Given the description of an element on the screen output the (x, y) to click on. 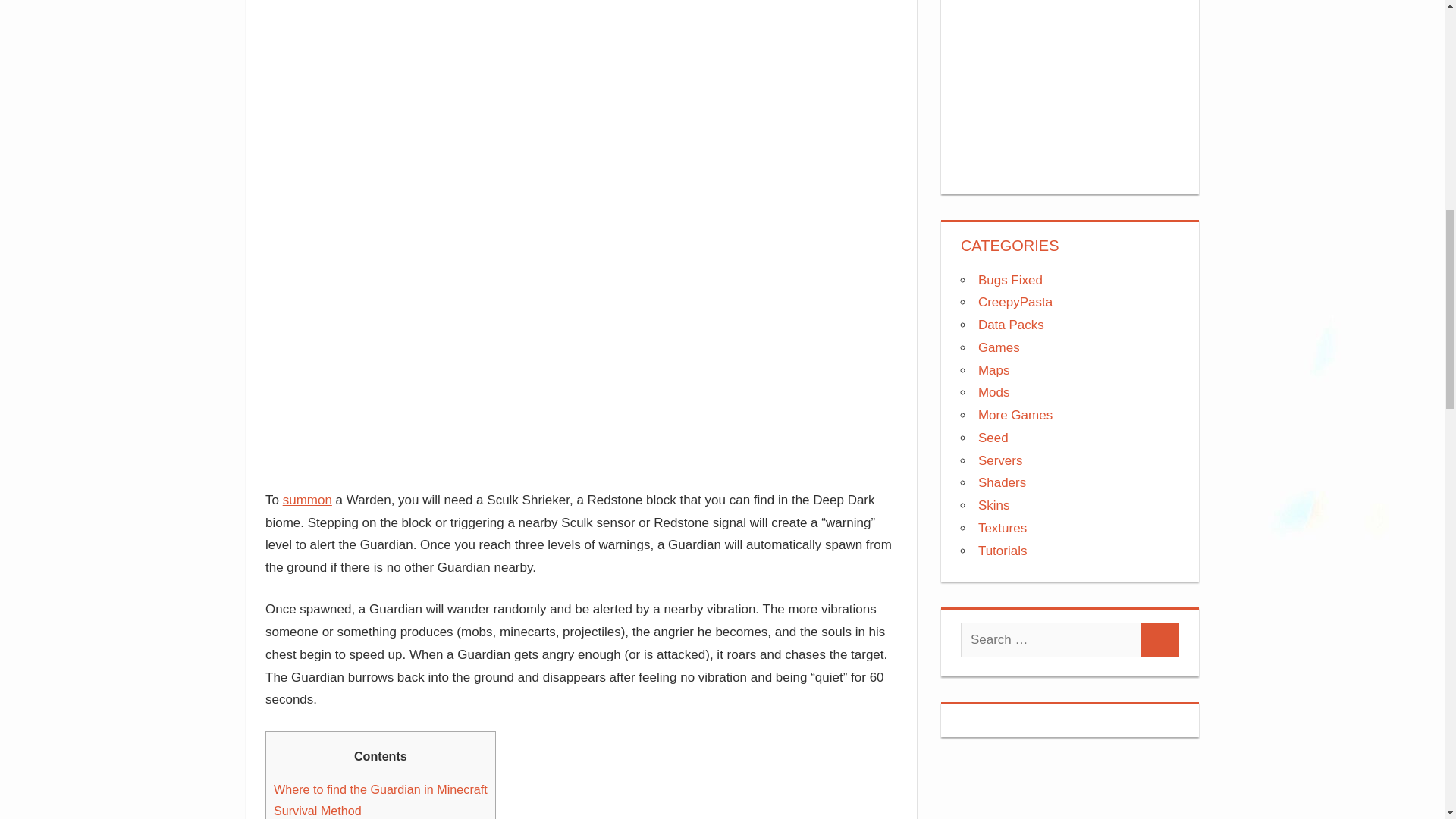
Advertisement (1069, 83)
Where to find the Guardian in Minecraft (380, 789)
summon (306, 499)
Bugs Fixed (1010, 279)
CreepyPasta (1015, 301)
Search for: (1050, 639)
Survival Method (317, 810)
Advertisement (581, 72)
